Given the description of an element on the screen output the (x, y) to click on. 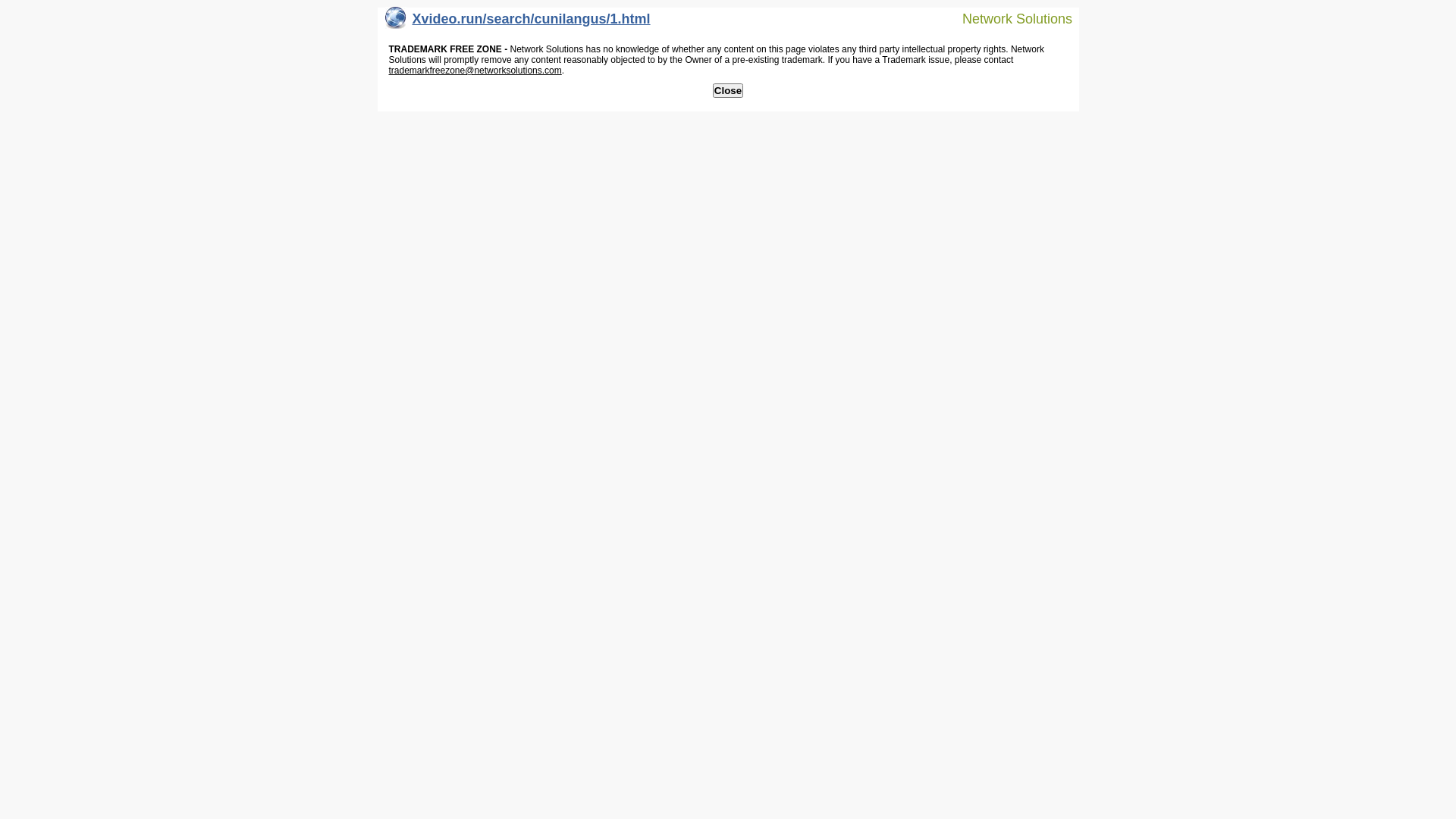
Network Solutions Element type: text (1007, 17)
trademarkfreezone@networksolutions.com Element type: text (474, 70)
Xvideo.run/search/cunilangus/1.html Element type: text (517, 21)
Close Element type: text (727, 90)
